Given the description of an element on the screen output the (x, y) to click on. 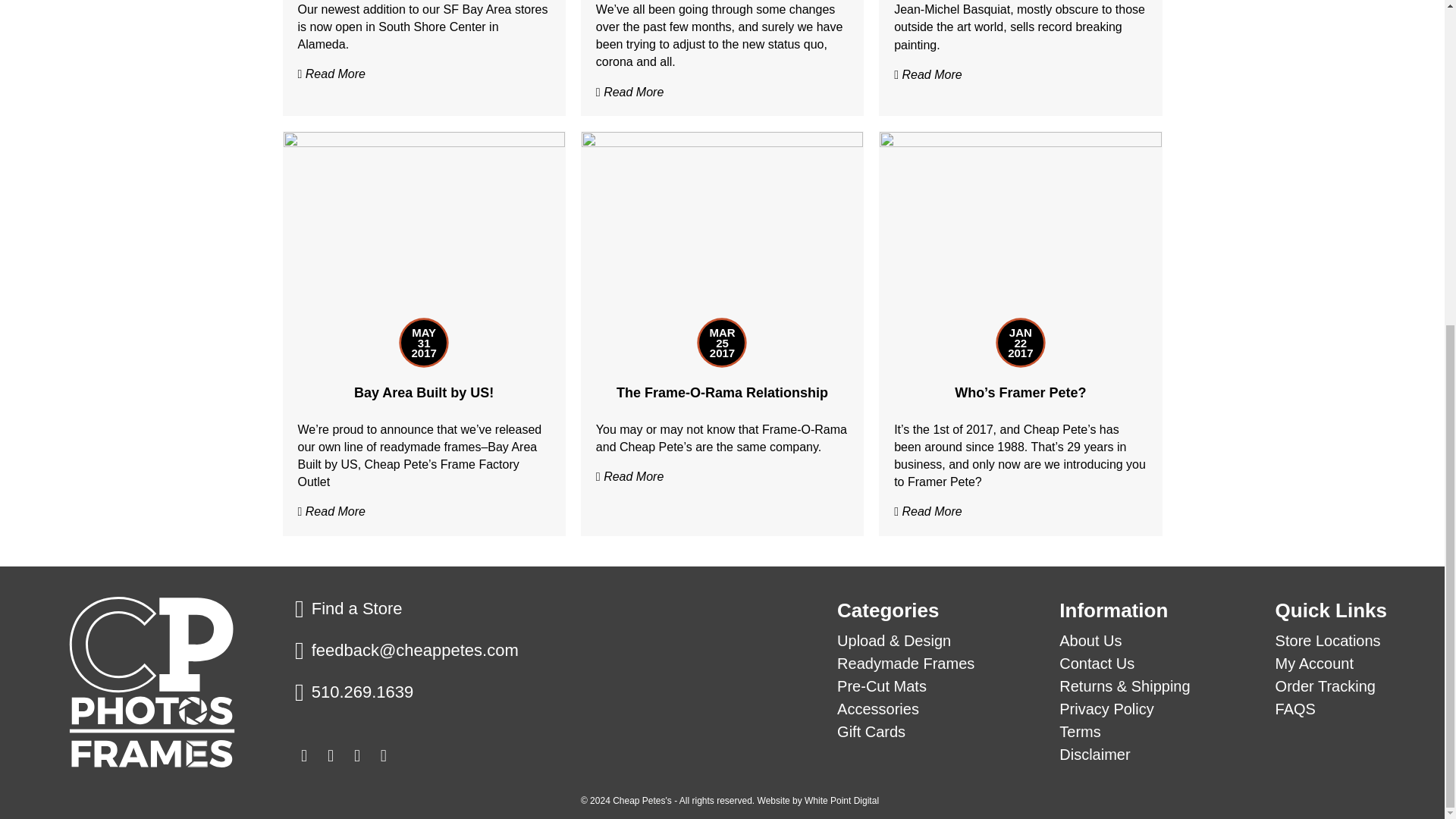
The Frame-O-Rama Relationship (721, 392)
The Frame-O-Rama Relationship (721, 236)
Bay Area Built by US! (423, 392)
Bay Area Built by US! (423, 236)
